Given the description of an element on the screen output the (x, y) to click on. 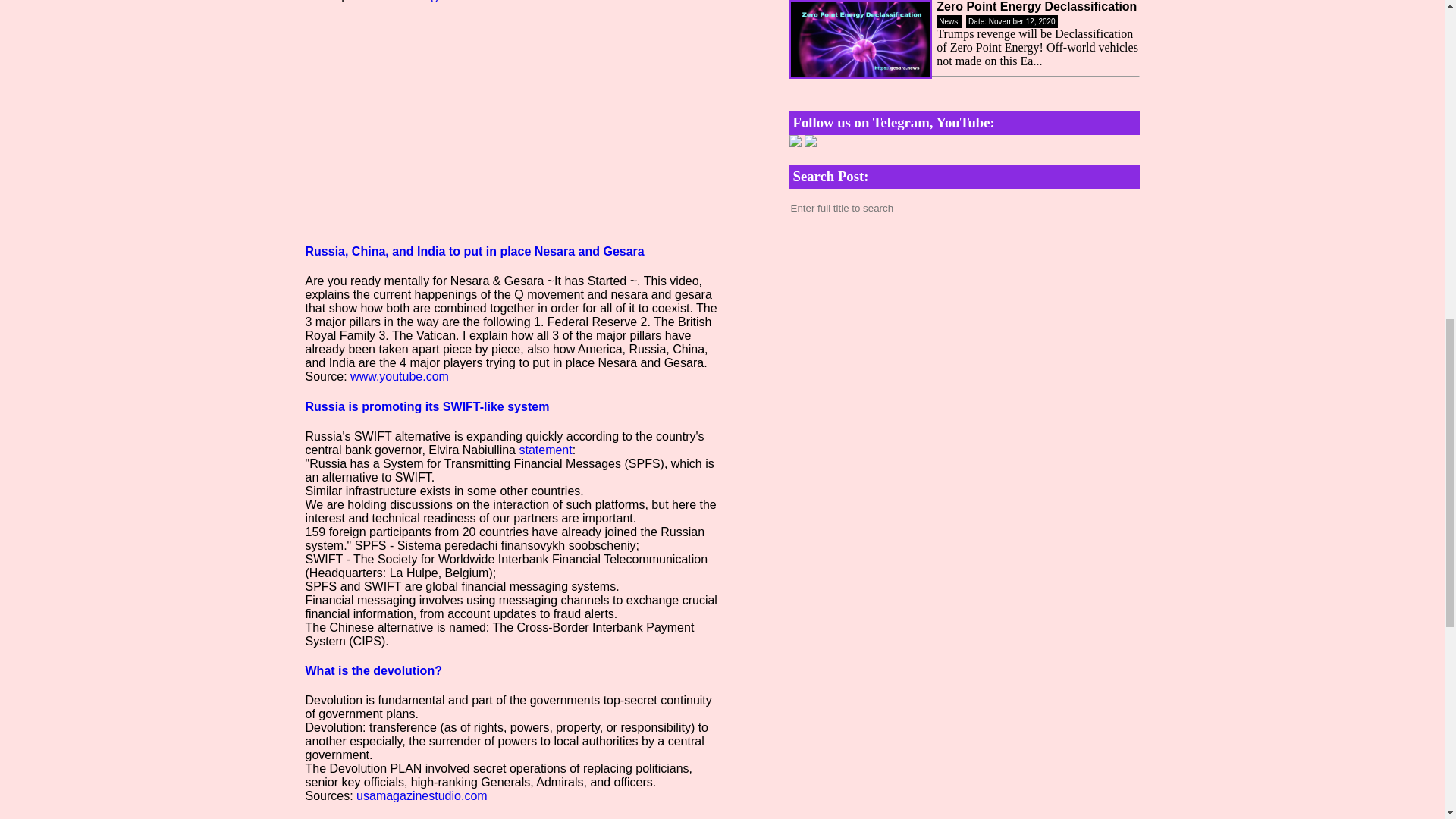
What is the devolution? (372, 670)
www.youtube.com (399, 376)
usamagazinestudio.com (421, 795)
Russia is promoting its SWIFT-like system (426, 406)
www.state.gov (410, 1)
statement (545, 449)
Russia, China, and India to put in place Nesara and Gesara (473, 250)
